Given the description of an element on the screen output the (x, y) to click on. 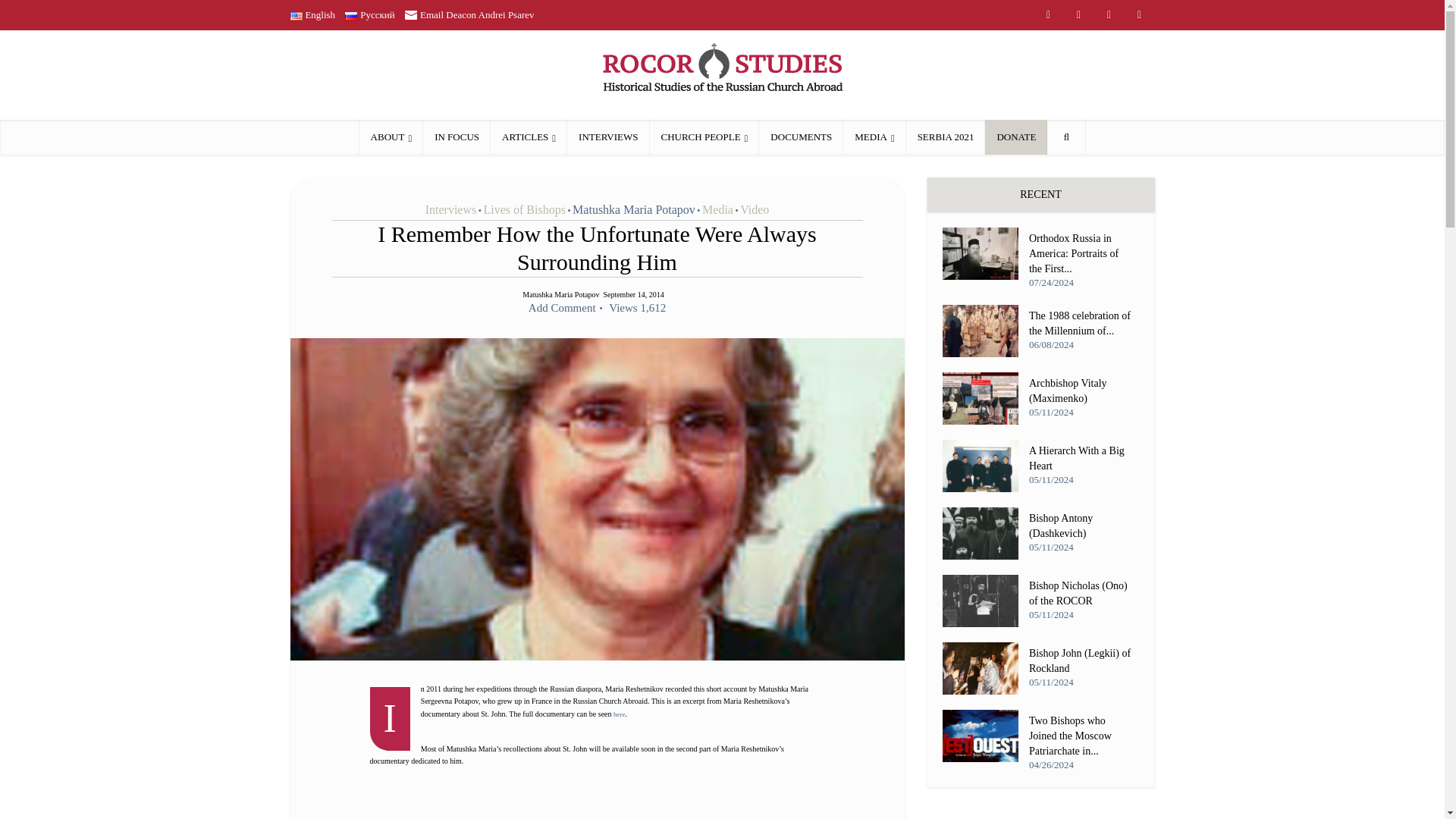
About (391, 136)
DOCUMENTS (800, 136)
RSS (1047, 15)
ARTICLES (528, 136)
English (311, 14)
IN FOCUS (456, 136)
CHURCH PEOPLE (703, 136)
Email Deacon Andrei Psarev (469, 14)
Donate (1015, 136)
YouTube (1077, 15)
